Given the description of an element on the screen output the (x, y) to click on. 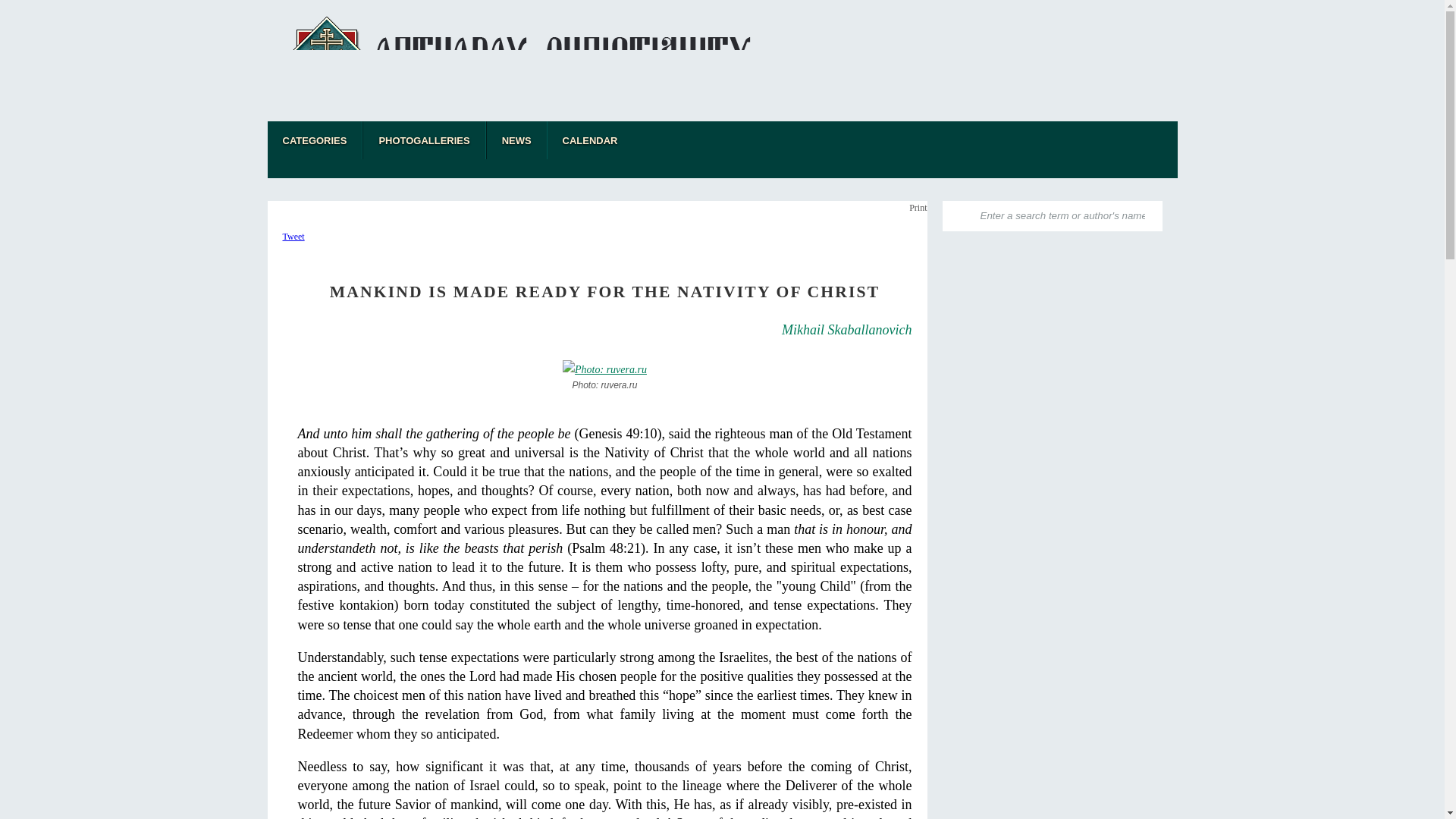
Tweet (293, 235)
CALENDAR (590, 139)
Print (917, 207)
Greek (1155, 139)
PHOTOGALLERIES (423, 139)
Telegram (1043, 139)
Mikhail Skaballanovich (846, 329)
RSS (986, 139)
NEWS (516, 139)
Photo: ruvera.ru (604, 376)
Serbian (1128, 139)
Twitter (1015, 139)
VKontakte (1071, 139)
Russian (1100, 139)
Sign up for our mailing list (958, 139)
